Given the description of an element on the screen output the (x, y) to click on. 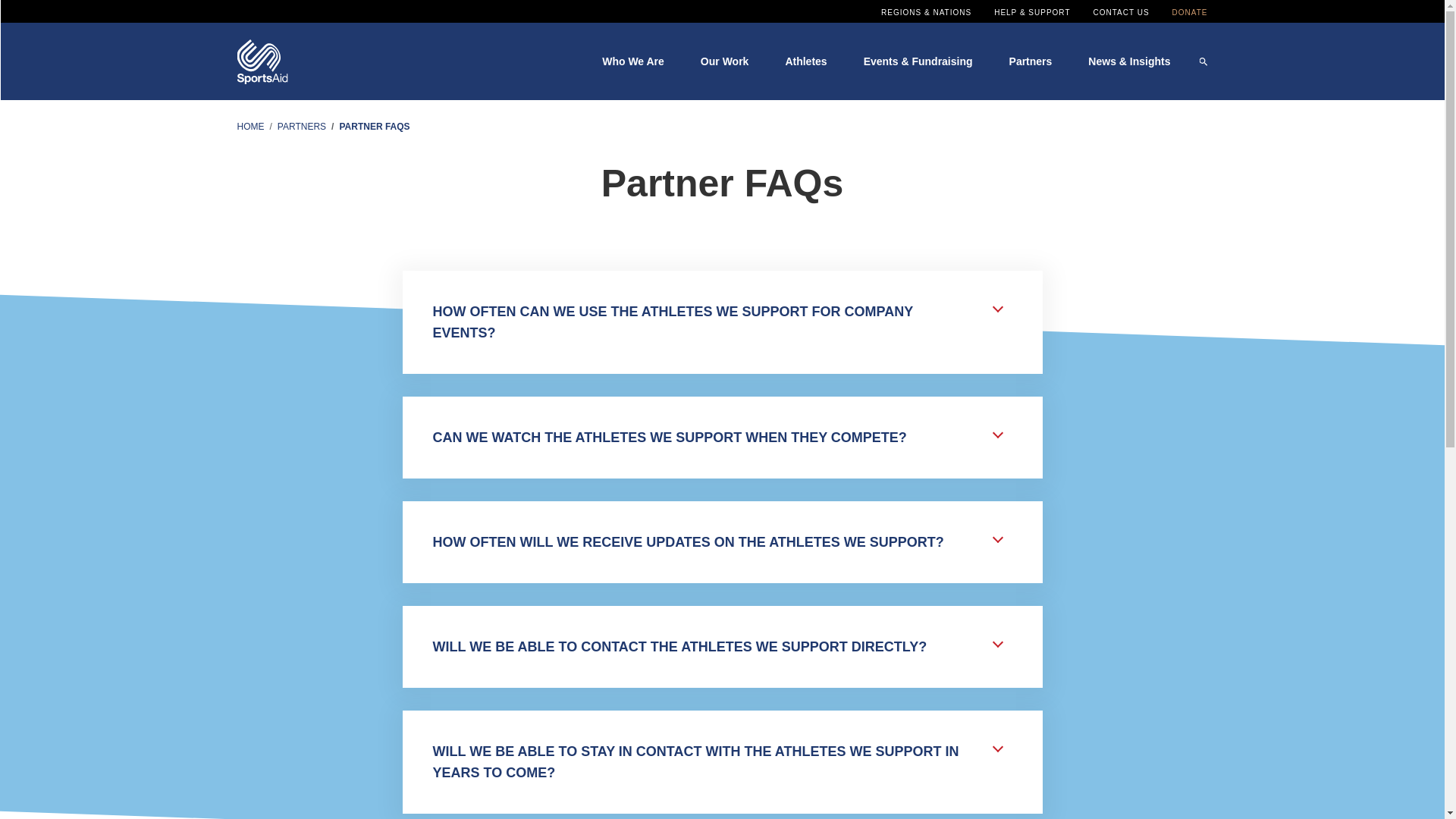
CONTACT US (1120, 12)
DONATE (1190, 12)
Home (260, 60)
Who We Are (632, 60)
